Given the description of an element on the screen output the (x, y) to click on. 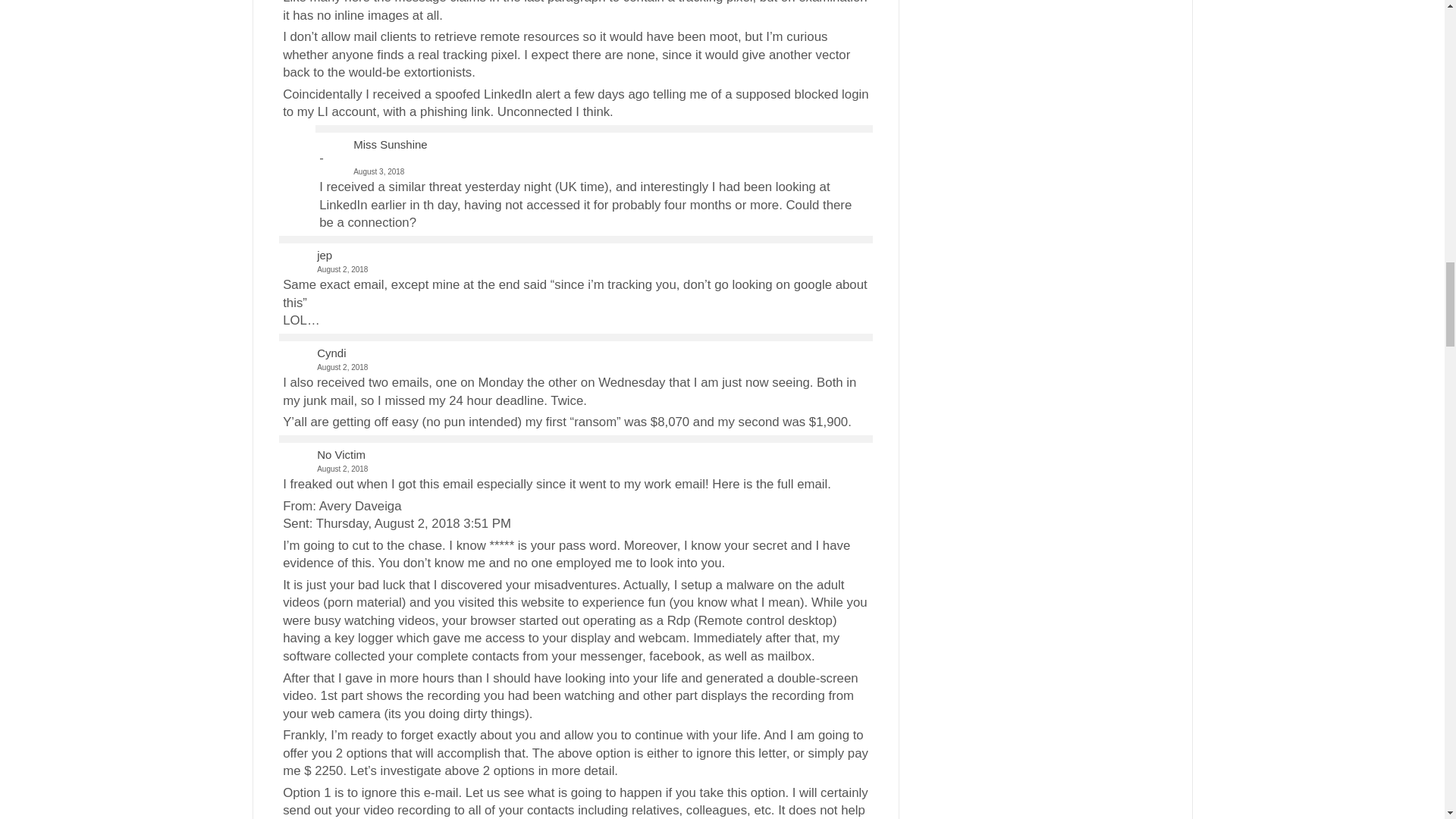
August 2, 2018 (574, 269)
August 2, 2018 (574, 468)
August 2, 2018 (574, 367)
August 3, 2018 (592, 164)
